Given the description of an element on the screen output the (x, y) to click on. 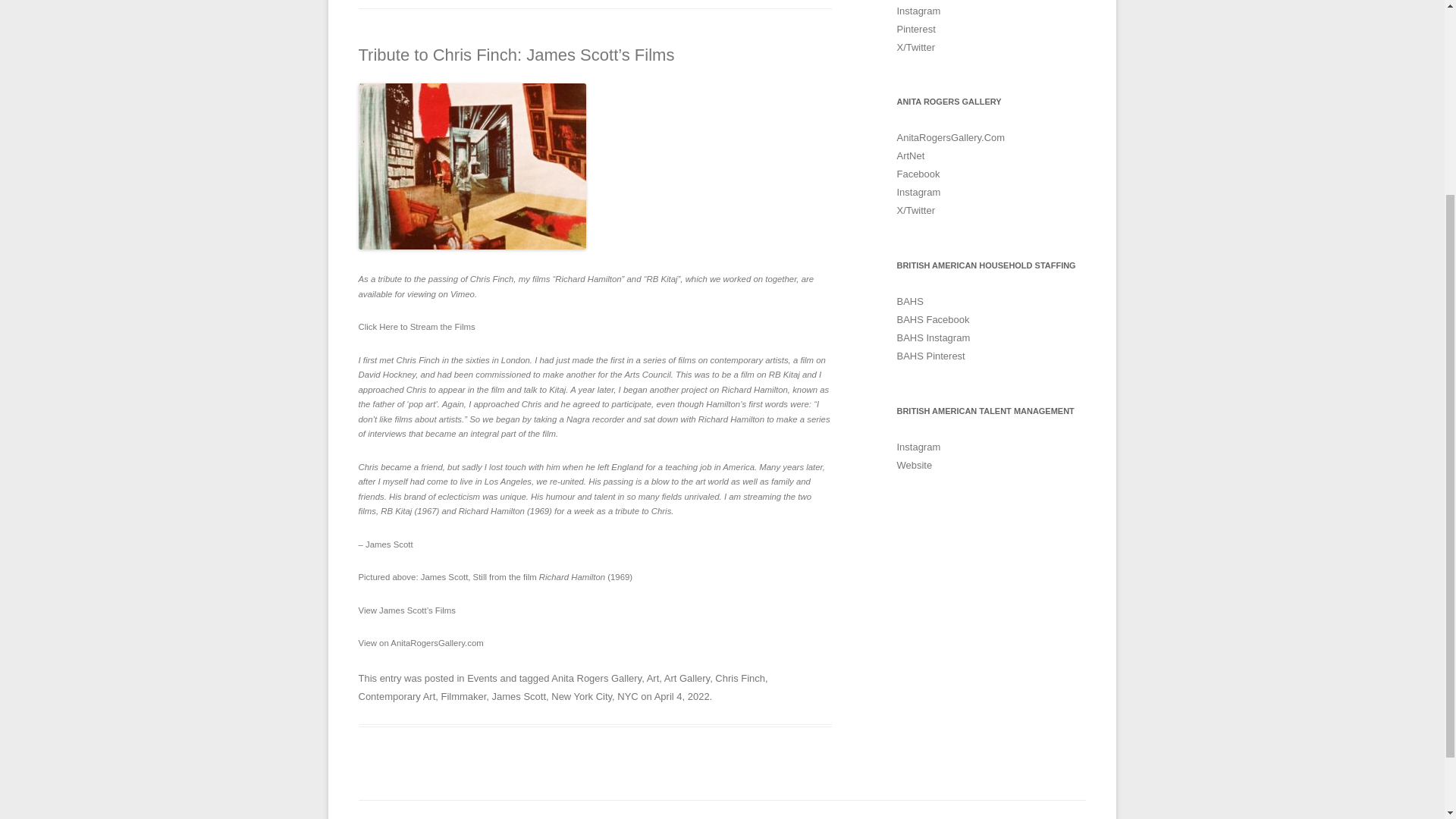
James Scott (519, 696)
Events (482, 677)
Art (652, 677)
ArtNet (910, 155)
April 4, 2022 (681, 696)
Pinterest (915, 29)
Instagram (918, 10)
Filmmaker (463, 696)
Click Here to Stream the Films (416, 326)
Art Gallery (686, 677)
BAHS (909, 301)
NYC (627, 696)
Chris Finch (739, 677)
Instagram (918, 446)
Contemporary Art (396, 696)
